Given the description of an element on the screen output the (x, y) to click on. 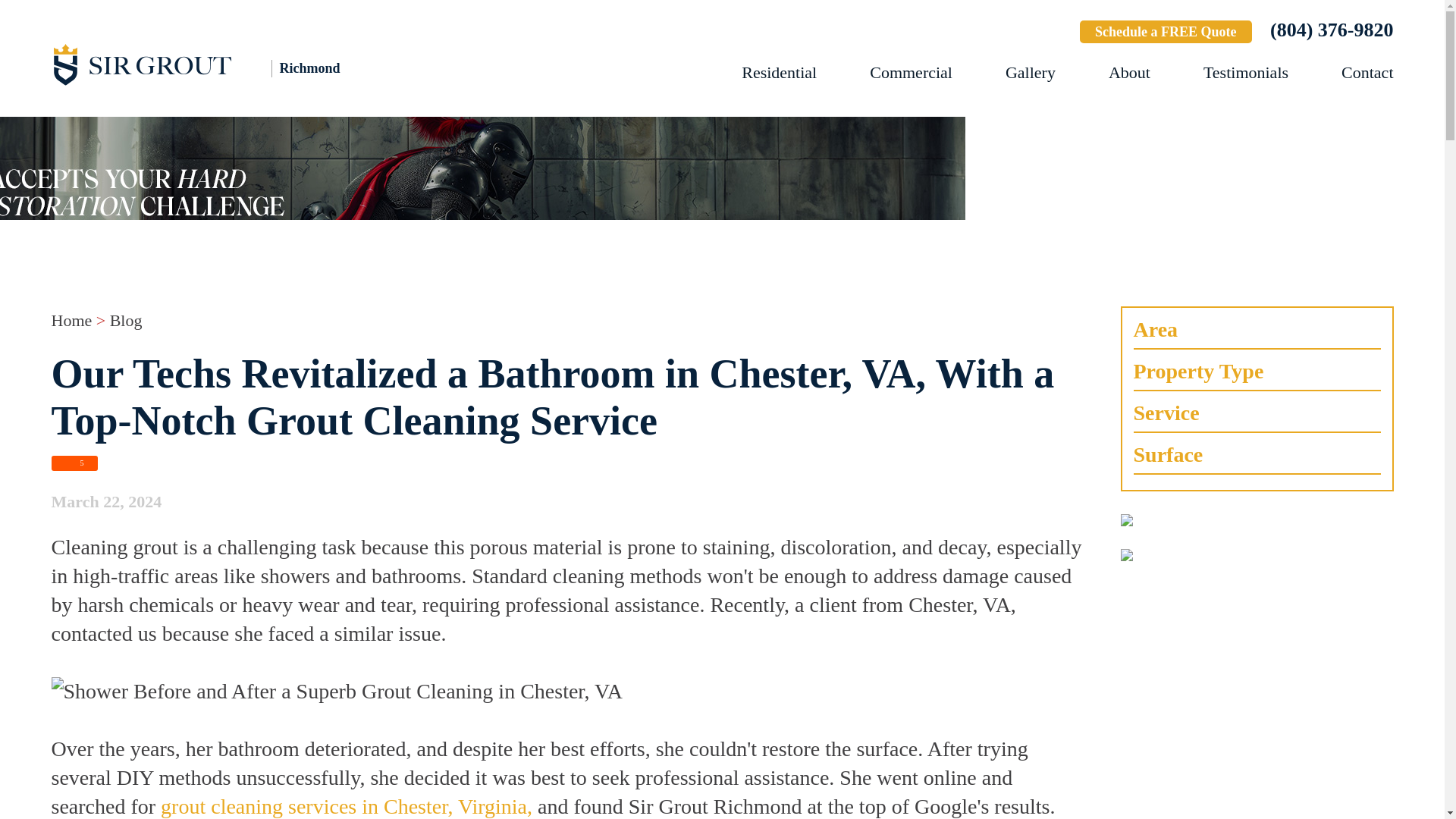
Sir Grout Richmond (217, 64)
Call Sir Grout Richmond (1331, 29)
Write a Review (1013, 32)
Schedule a FREE Quote (1166, 31)
Write a Review (1013, 32)
Residential Services (778, 72)
Residential (778, 72)
Schedule a FREE Quote (1166, 31)
Gallery (1030, 72)
Commercial (910, 72)
